Given the description of an element on the screen output the (x, y) to click on. 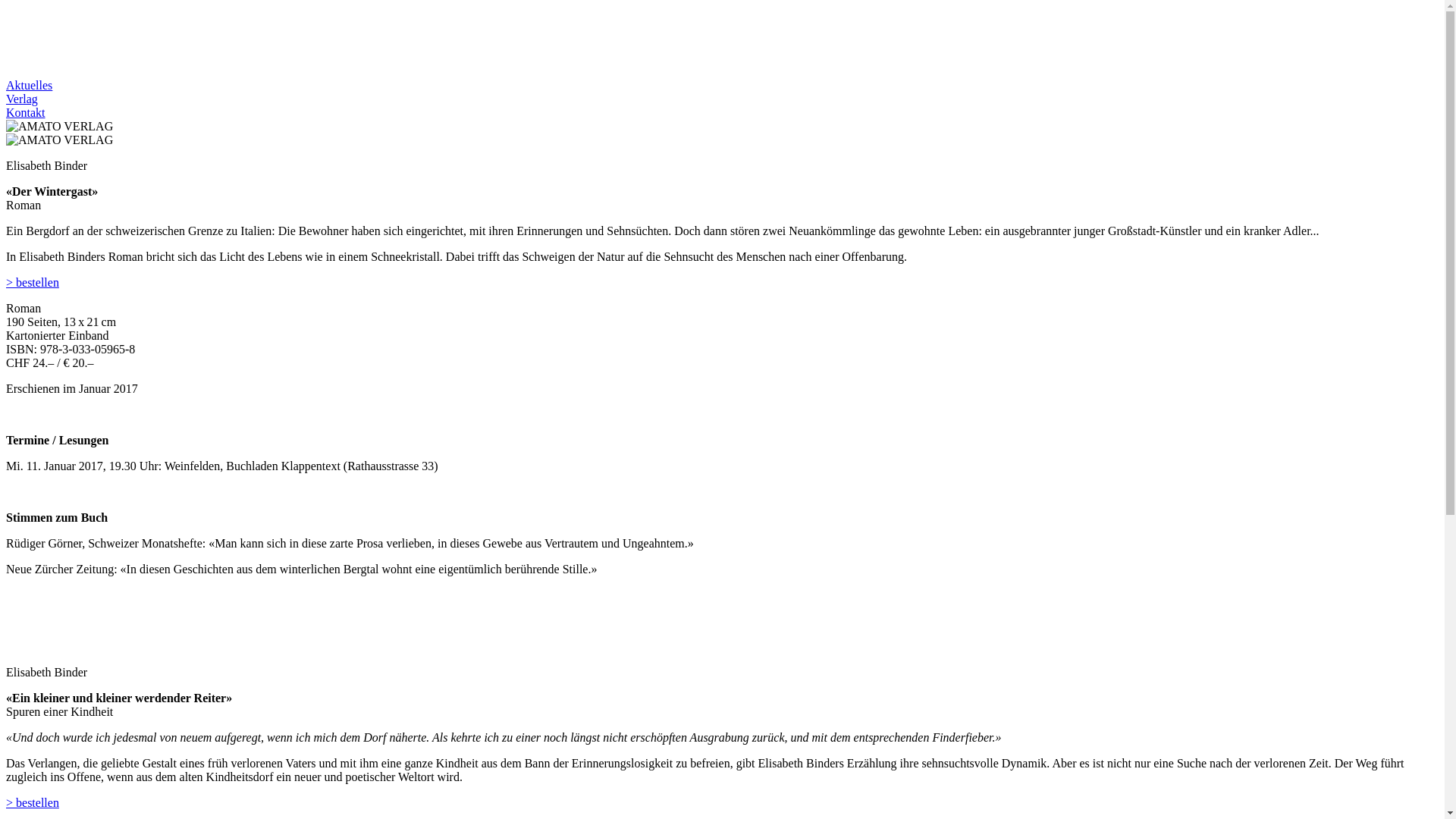
Aktuelles Element type: text (29, 84)
Verlag Element type: text (21, 98)
> bestellen Element type: text (32, 802)
Kontakt Element type: text (25, 112)
> bestellen Element type: text (32, 282)
